Given the description of an element on the screen output the (x, y) to click on. 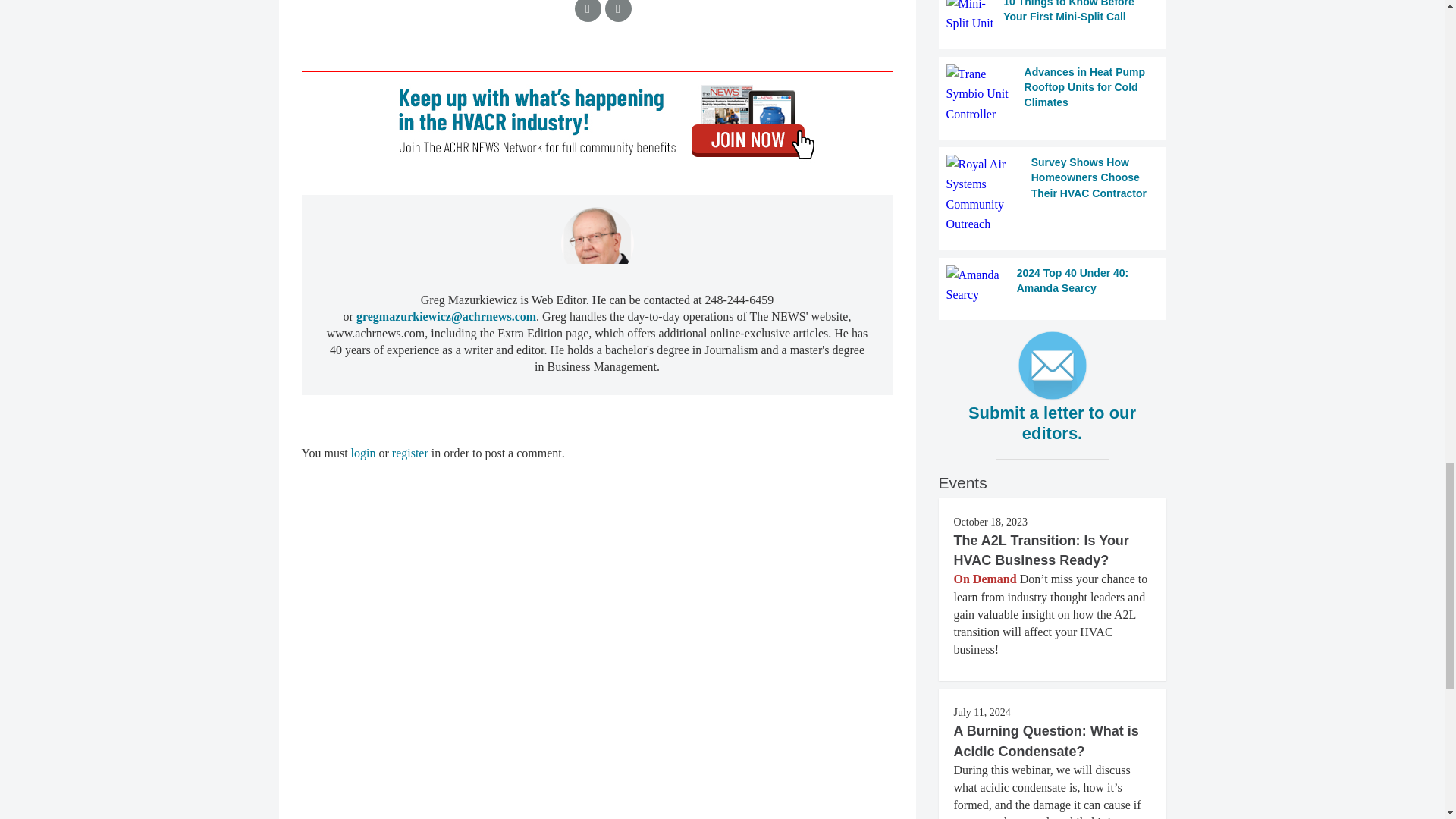
The A2L Transition: Is Your HVAC Business Ready? (1041, 550)
Advances in Heat Pump Rooftop Units for Cold Climates (1052, 94)
Survey Shows How Homeowners Choose Their HVAC Contractor (1052, 194)
2024 Top 40 Under 40: Amanda Searcy (1052, 285)
10 Things to Know Before Your First Mini-Split Call (1052, 17)
A Burning Question: What is Acidic Condensate? (1045, 740)
